Given the description of an element on the screen output the (x, y) to click on. 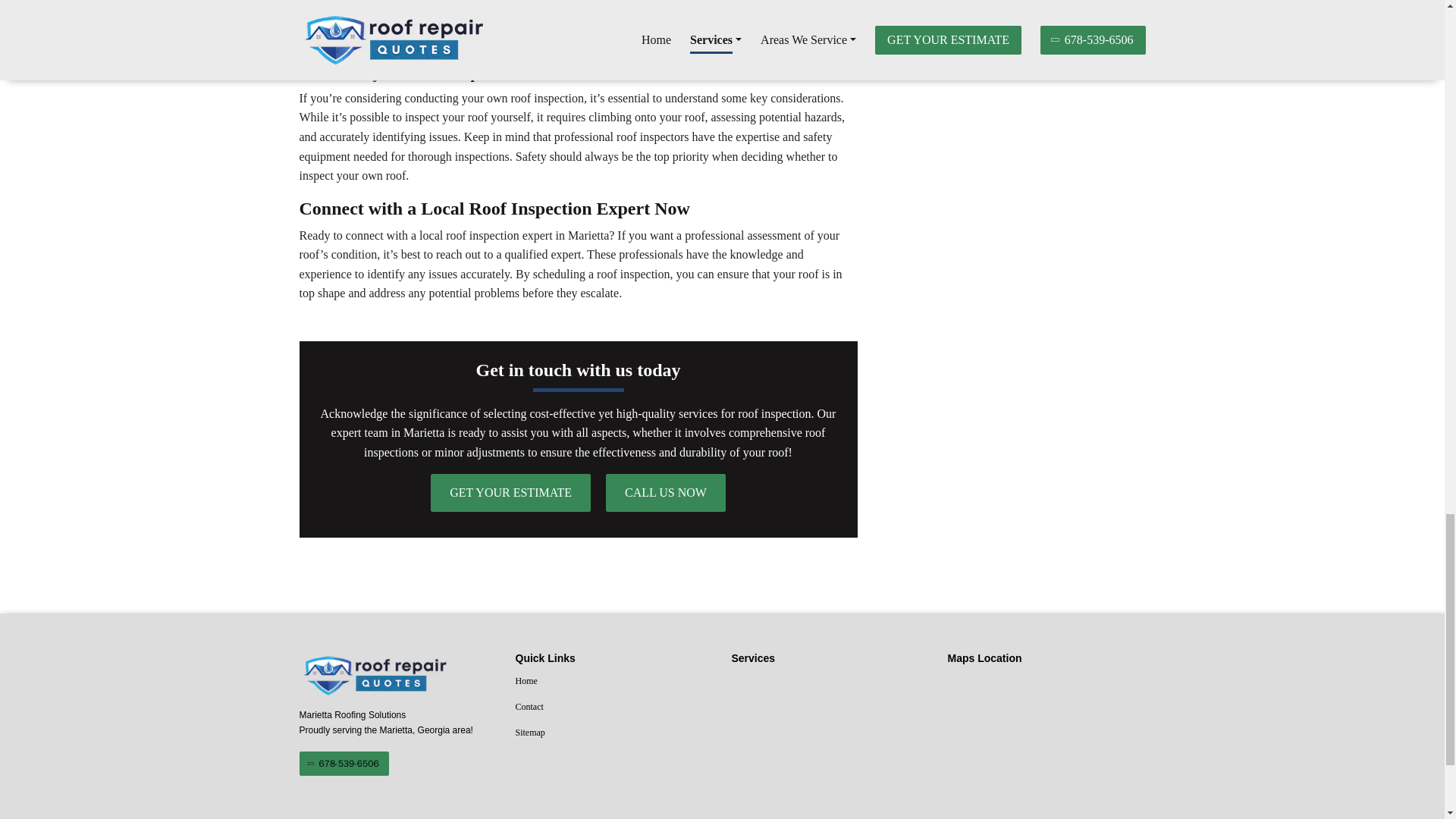
GET YOUR ESTIMATE (510, 492)
Contact (614, 707)
Sitemap (614, 732)
Home (614, 681)
678-539-6506 (343, 763)
CALL US NOW (665, 492)
